Given the description of an element on the screen output the (x, y) to click on. 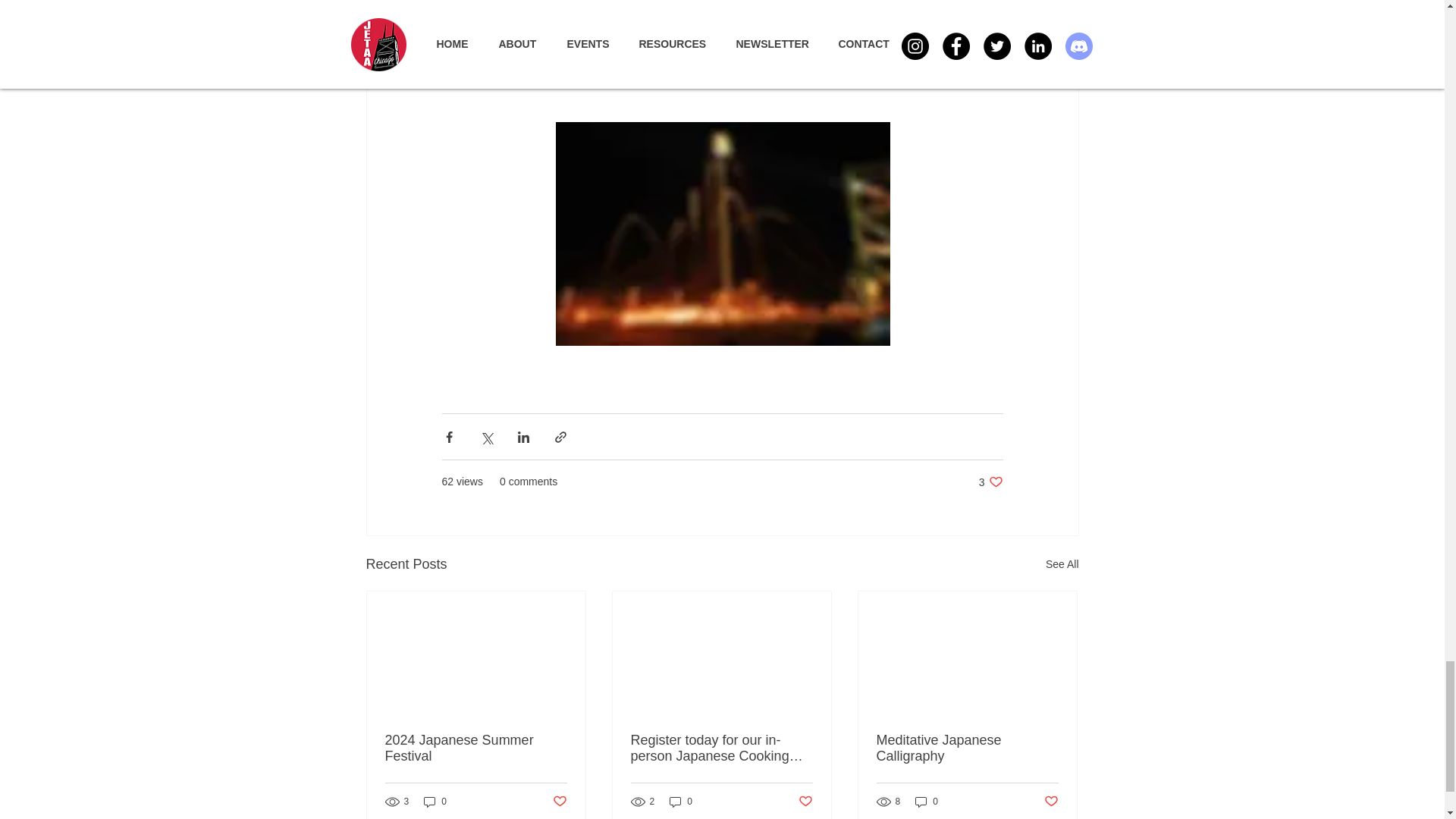
LinkedIn (643, 75)
Facebook (990, 481)
